Given the description of an element on the screen output the (x, y) to click on. 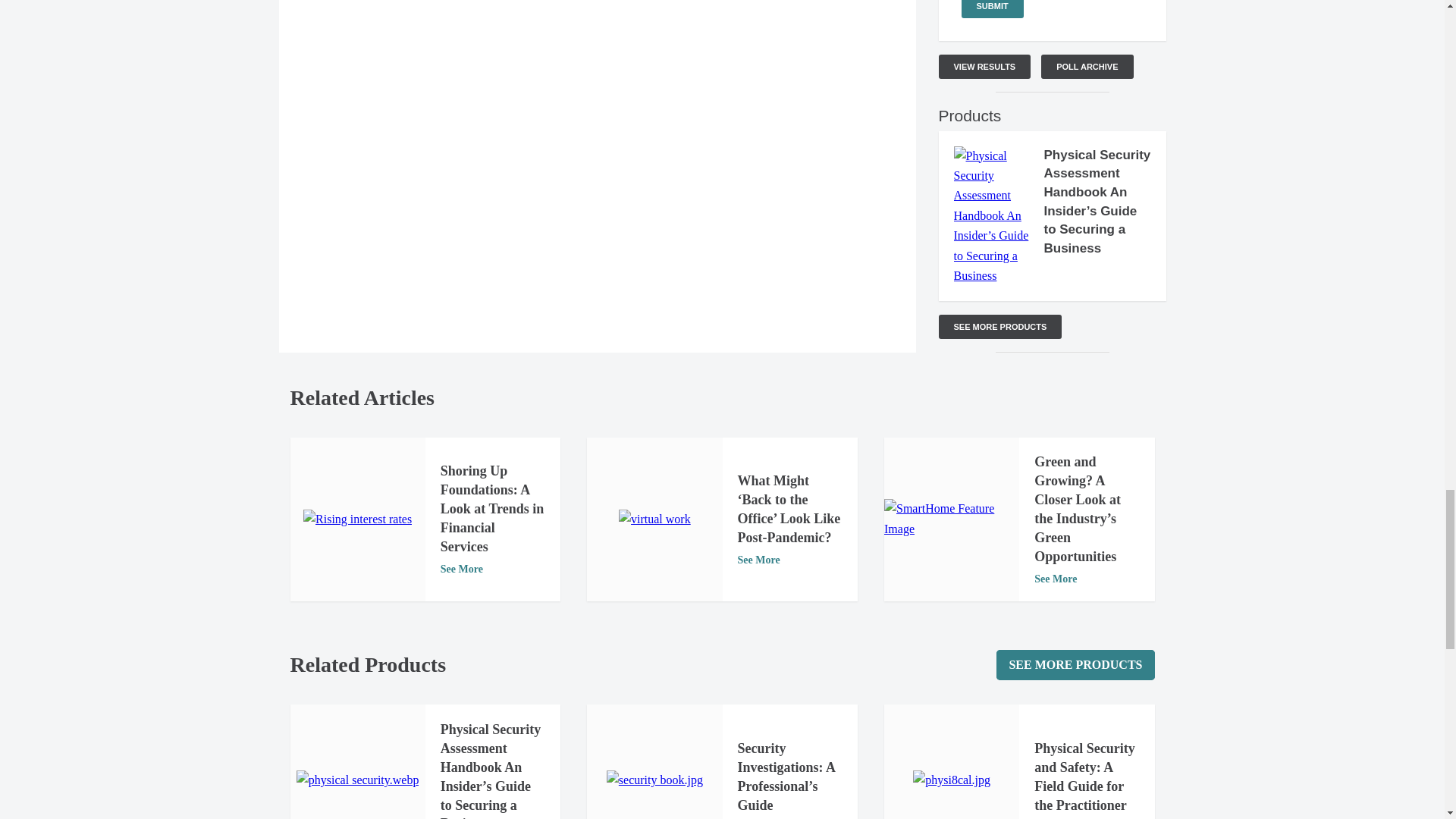
SmartHome Feature Image (951, 518)
Rising interest rates (357, 519)
Submit (991, 9)
physi8cal.jpg (951, 780)
virtual work (654, 519)
security book.jpg (655, 780)
physical security.webp (358, 780)
